Given the description of an element on the screen output the (x, y) to click on. 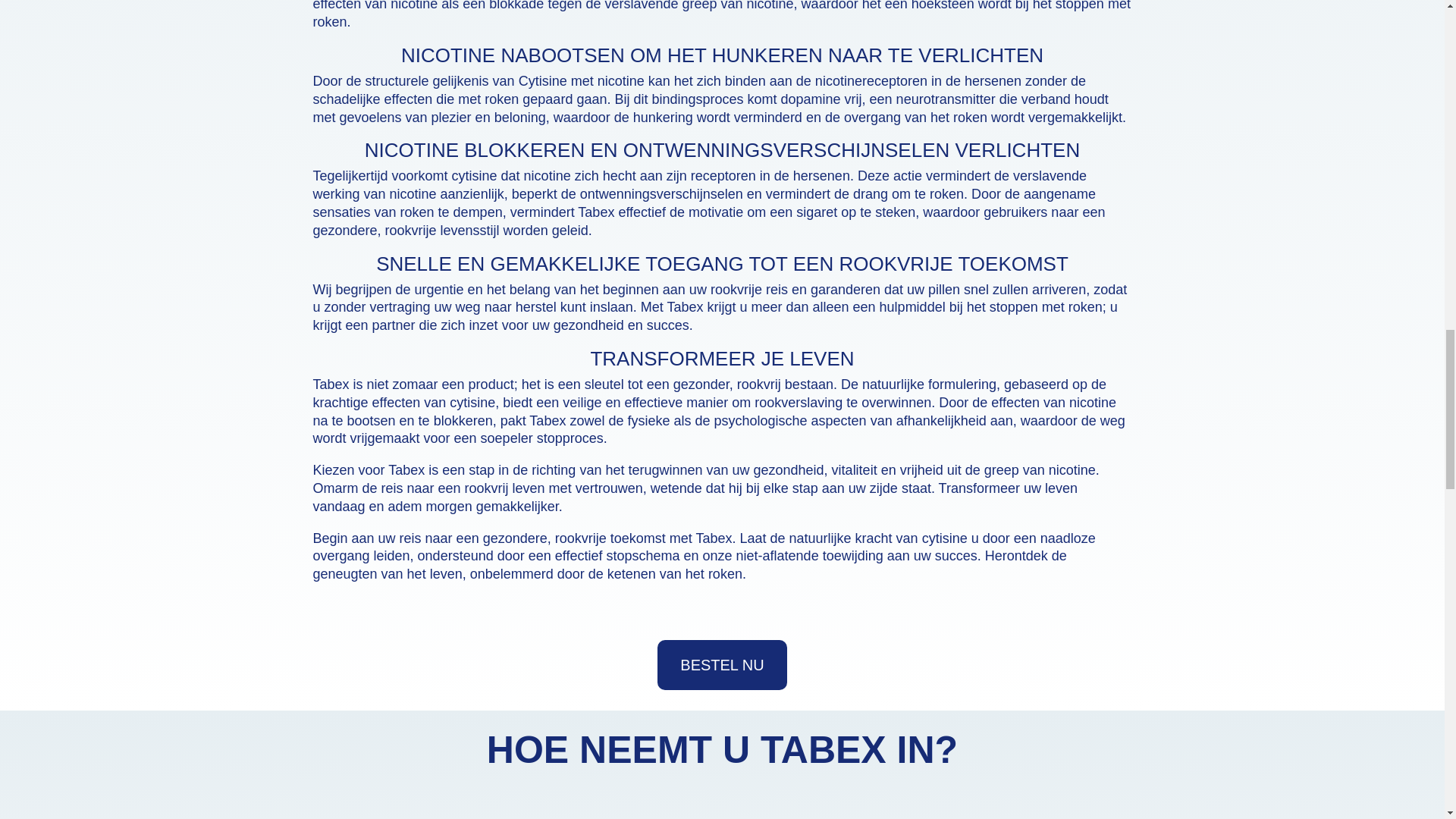
BESTEL NU (722, 664)
